Given the description of an element on the screen output the (x, y) to click on. 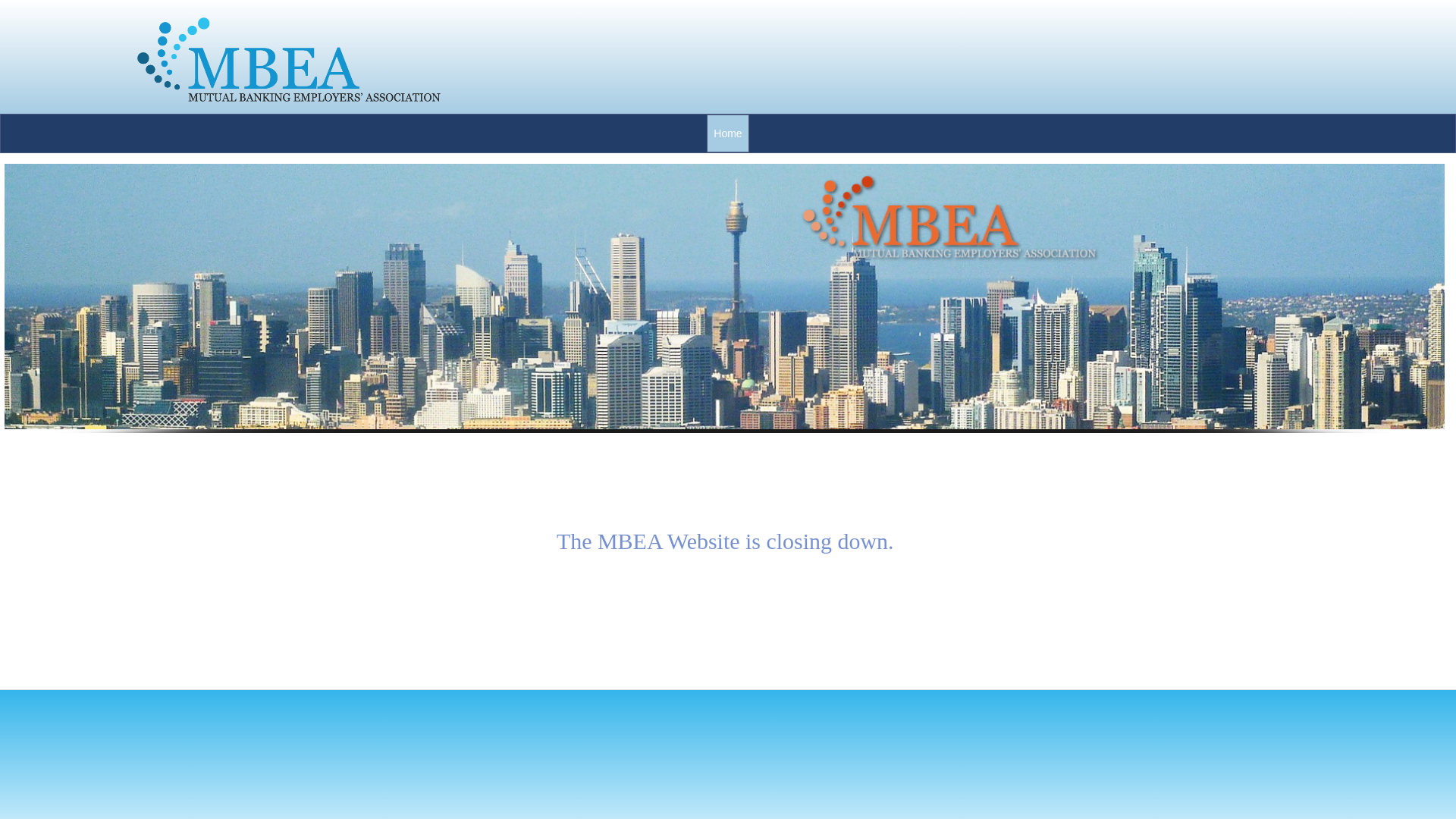
Home Element type: text (727, 133)
